Given the description of an element on the screen output the (x, y) to click on. 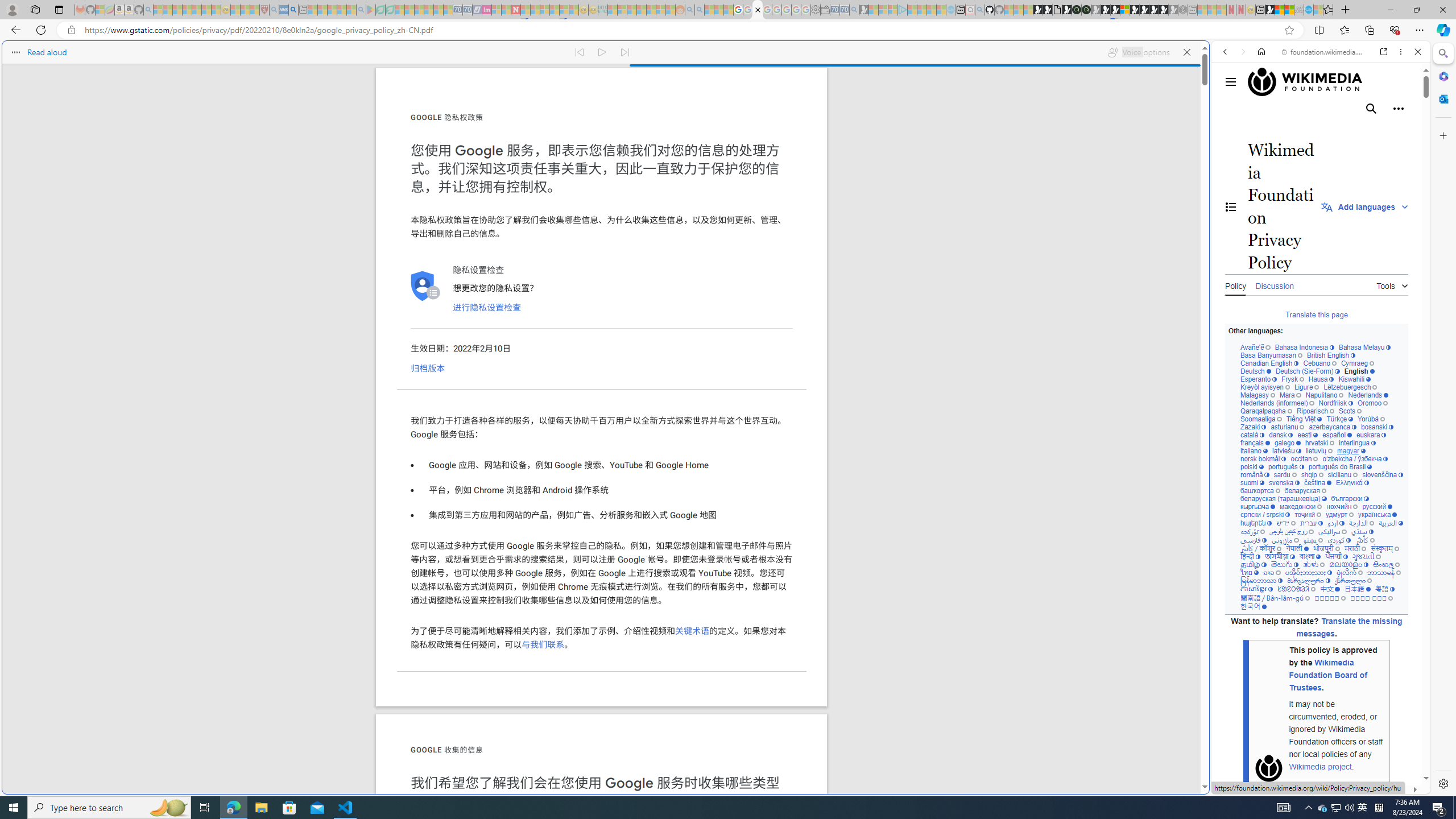
Pets - MSN - Sleeping (340, 9)
Ligure (1306, 387)
Personal tools (1398, 108)
interlingua (1357, 442)
